Given the description of an element on the screen output the (x, y) to click on. 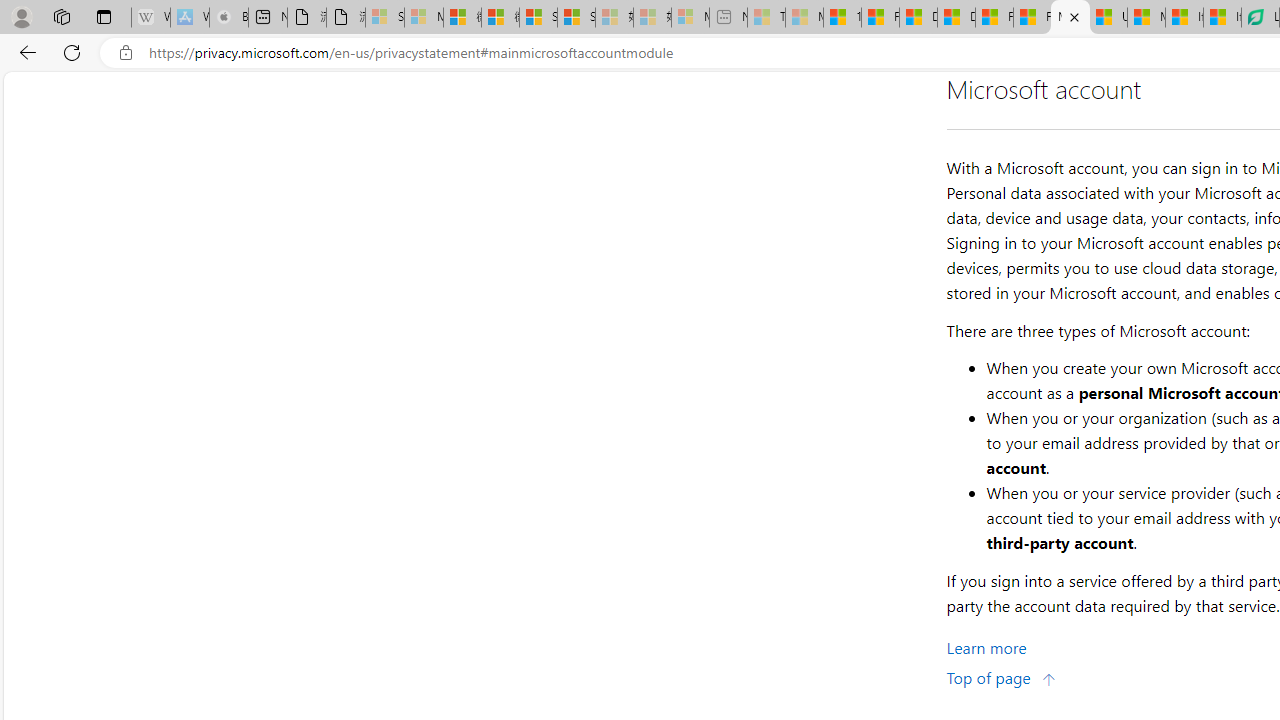
Learn More about Microsoft account (985, 647)
Sign in to your Microsoft account - Sleeping (385, 17)
Food and Drink - MSN (879, 17)
Marine life - MSN - Sleeping (804, 17)
Buy iPad - Apple - Sleeping (228, 17)
Foo BAR | Trusted Community Engagement and Contributions (1031, 17)
